Given the description of an element on the screen output the (x, y) to click on. 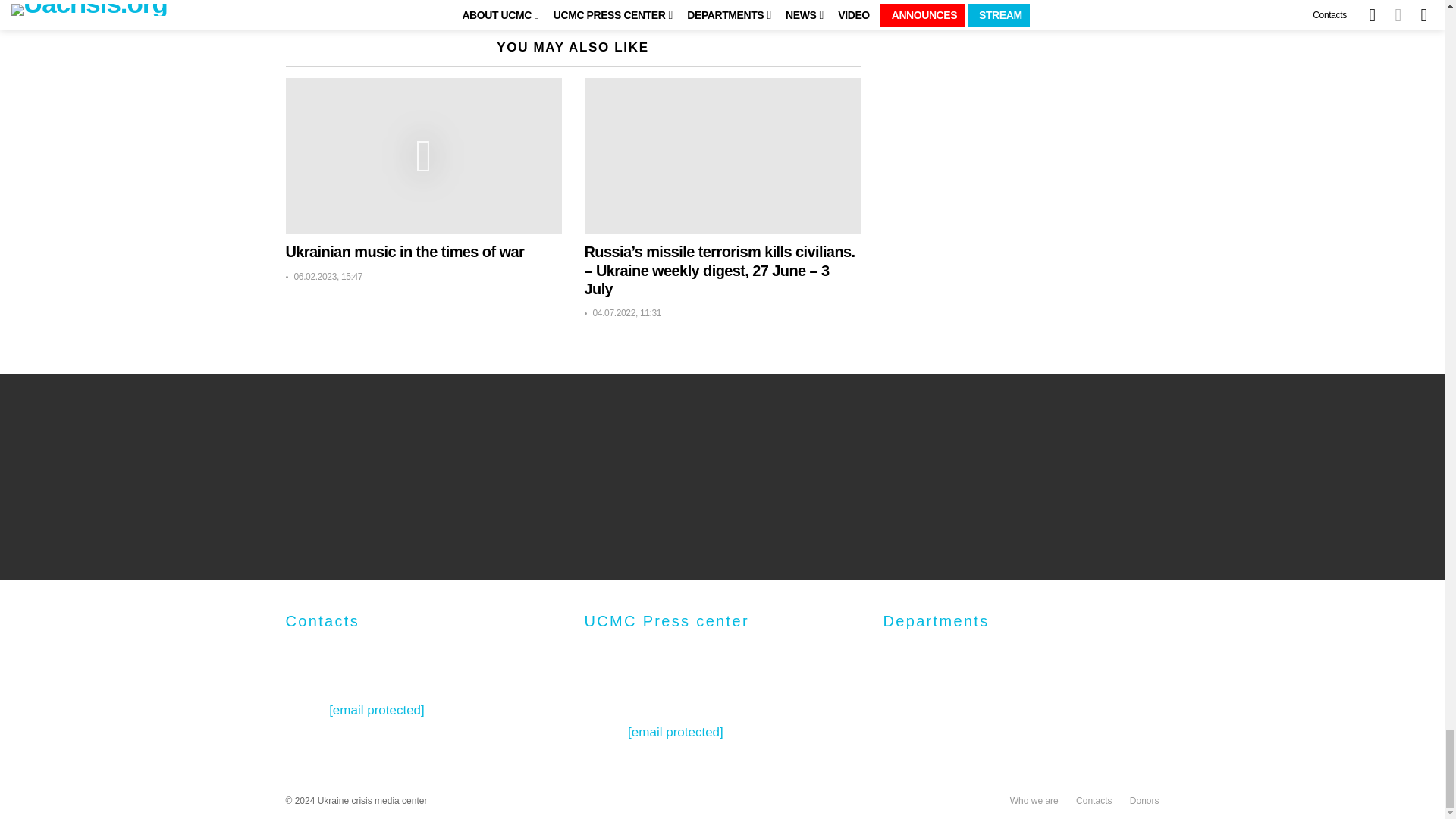
Ukrainian music in the times of war (422, 155)
